Given the description of an element on the screen output the (x, y) to click on. 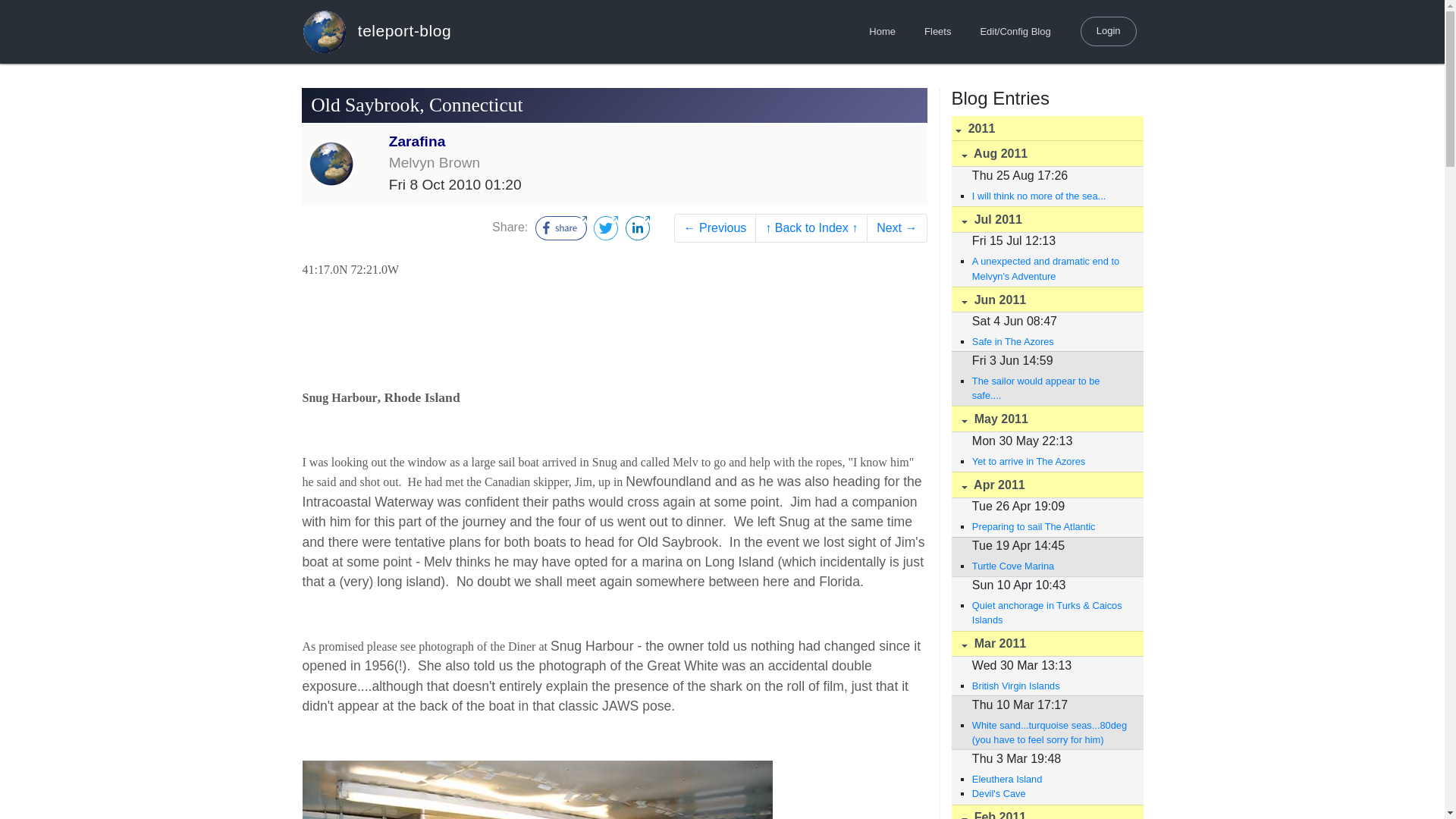
Mar 2011 (1046, 643)
Yet to arrive in The Azores (1050, 461)
Login (1108, 30)
Turtle Cove Marina (1050, 565)
Eleuthera Island (1050, 779)
I will think no more of the sea... (1050, 196)
Preparing to sail The Atlantic (1050, 526)
Safe in The Azores (1050, 341)
Devil's Cave (1050, 793)
The sailor would appear to be safe.... (1050, 387)
May 2011 (1046, 418)
Aug 2011 (1046, 153)
British Virgin Islands (1050, 685)
teleport-blog (376, 31)
A unexpected and dramatic end to Melvyn's Adventure (1050, 267)
